Given the description of an element on the screen output the (x, y) to click on. 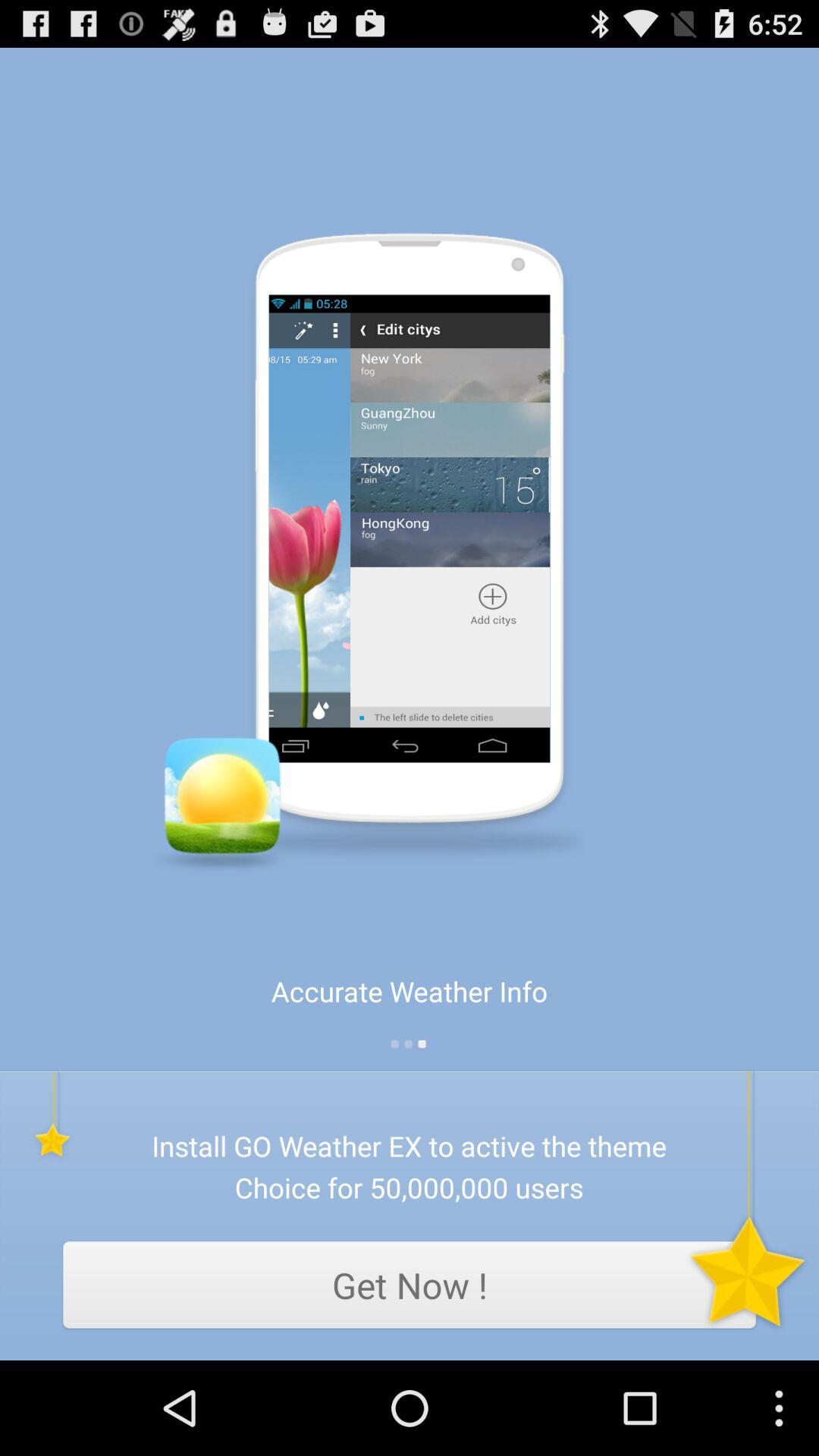
click on get now (409, 1285)
